Given the description of an element on the screen output the (x, y) to click on. 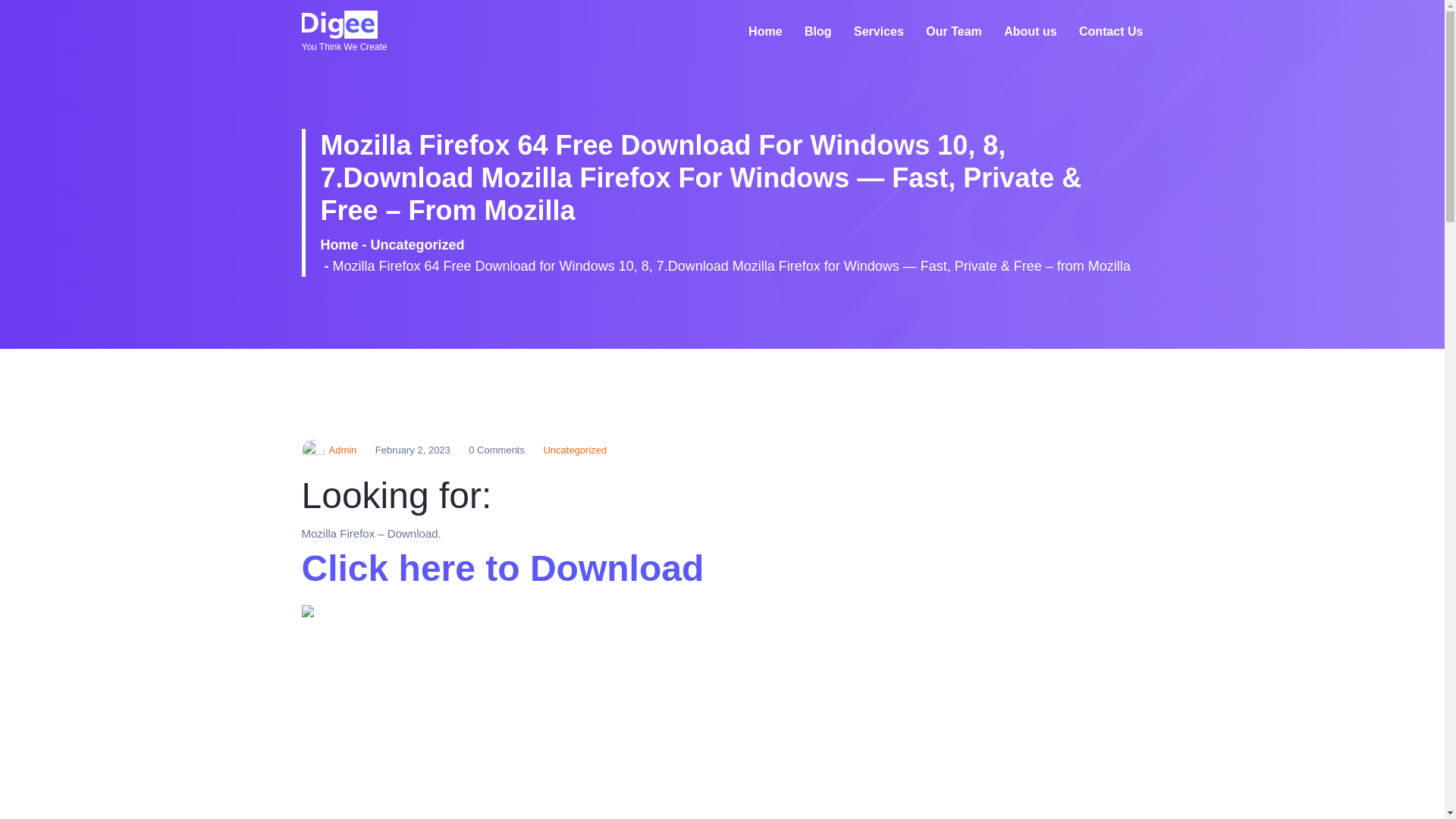
Blog (818, 31)
Blog (818, 31)
Click here to Download (502, 576)
Admin (328, 449)
Uncategorized (575, 449)
Home (764, 31)
About us (1030, 31)
Home (764, 31)
Home (339, 244)
Contact Us (1110, 31)
Our Team (953, 31)
Our Team (953, 31)
Contact Us (1110, 31)
Uncategorized (417, 244)
Services (878, 31)
